Given the description of an element on the screen output the (x, y) to click on. 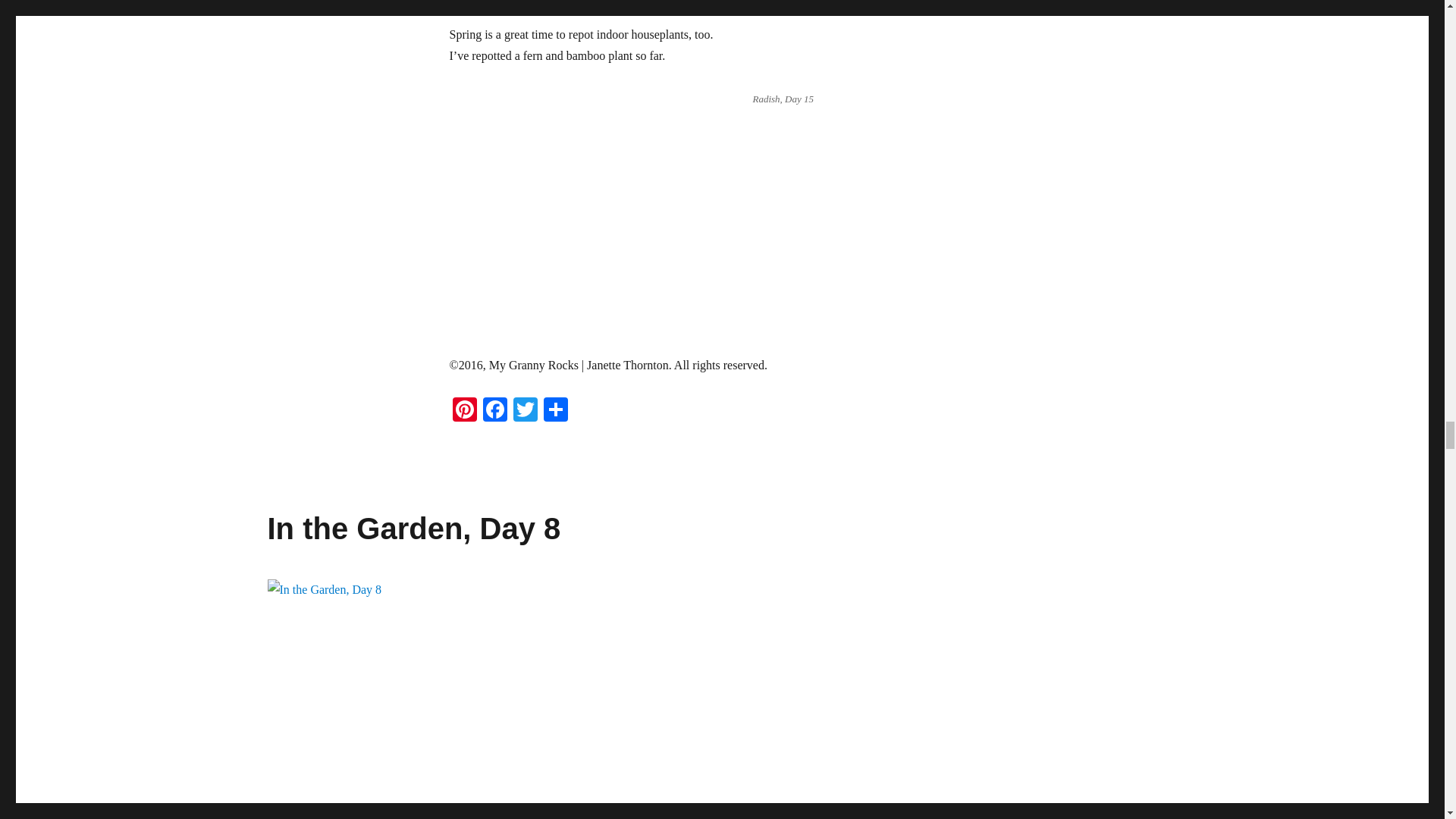
Pinterest (463, 411)
Pinterest (463, 411)
Facebook (494, 411)
Twitter (524, 411)
